Given the description of an element on the screen output the (x, y) to click on. 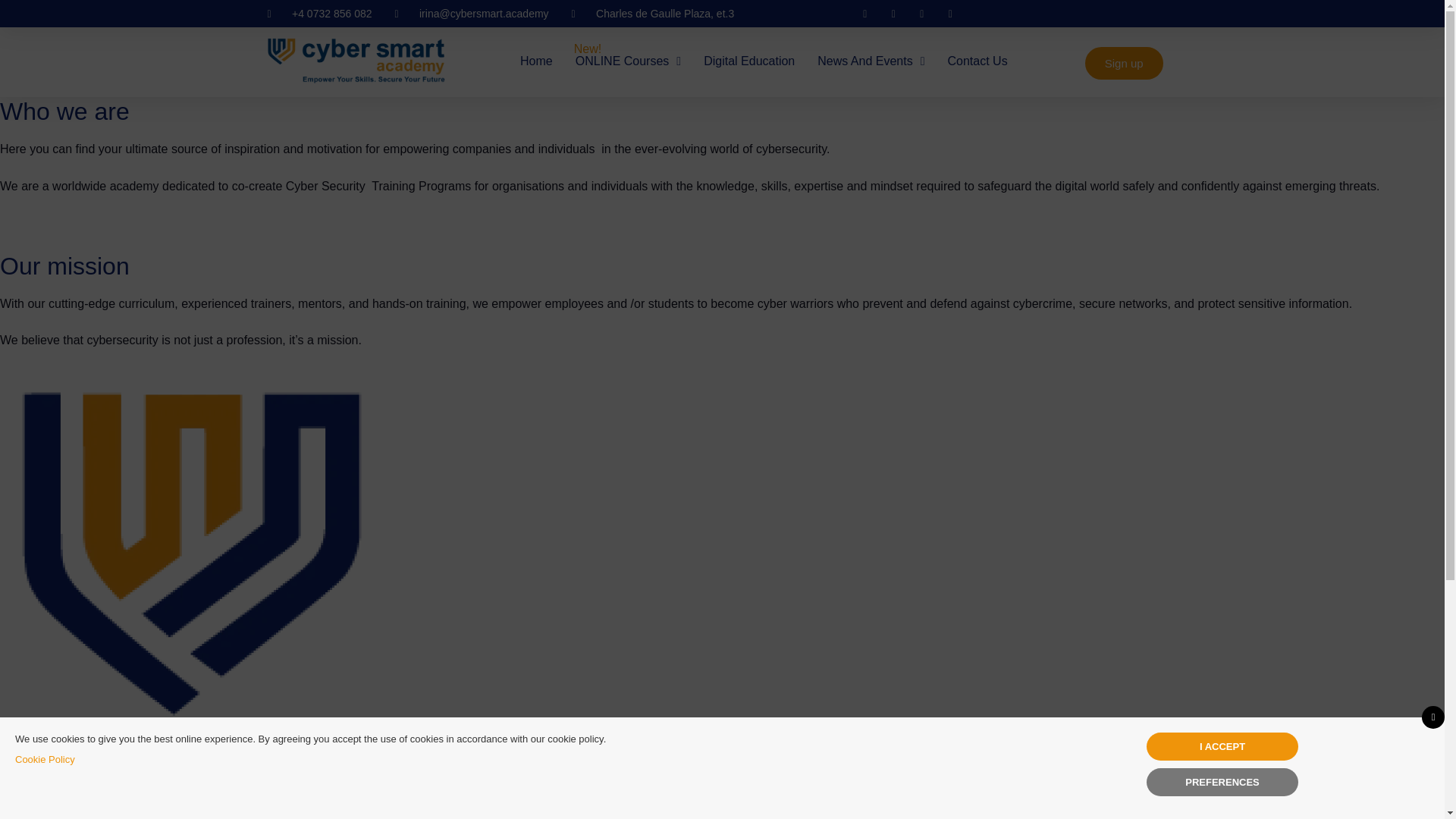
ONLINE Courses (628, 61)
News And Events (870, 61)
Home (536, 61)
Sign up (1123, 62)
Digital Education (748, 61)
Contact Us (977, 61)
